Given the description of an element on the screen output the (x, y) to click on. 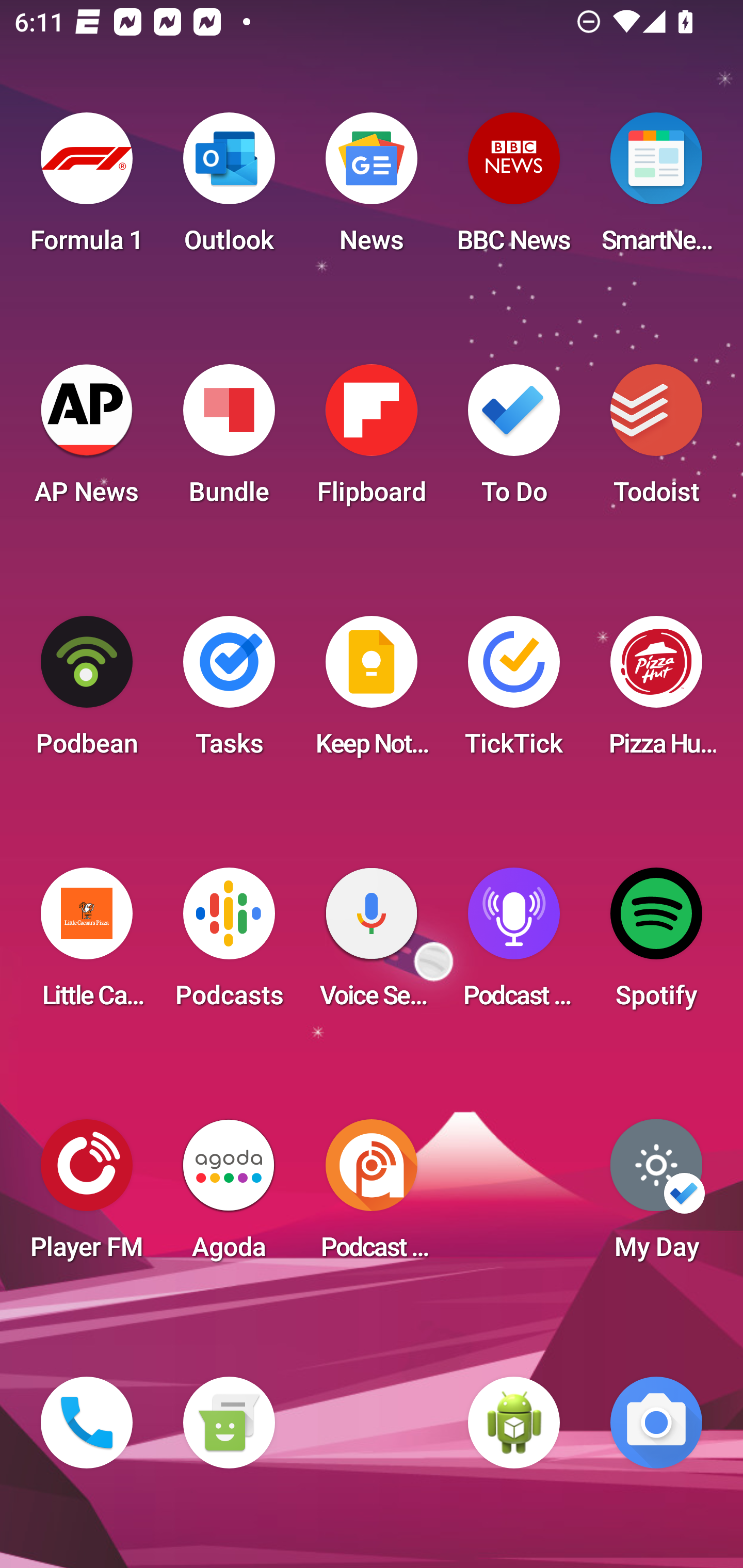
Formula 1 (86, 188)
Outlook (228, 188)
News (371, 188)
BBC News (513, 188)
SmartNews (656, 188)
AP News (86, 440)
Bundle (228, 440)
Flipboard (371, 440)
To Do (513, 440)
Todoist (656, 440)
Podbean (86, 692)
Tasks (228, 692)
Keep Notes (371, 692)
TickTick (513, 692)
Pizza Hut HK & Macau (656, 692)
Little Caesars Pizza (86, 943)
Podcasts (228, 943)
Voice Search (371, 943)
Podcast Player (513, 943)
Spotify (656, 943)
Player FM (86, 1195)
Agoda (228, 1195)
Podcast Addict (371, 1195)
My Day (656, 1195)
Phone (86, 1422)
Messaging (228, 1422)
WebView Browser Tester (513, 1422)
Camera (656, 1422)
